Given the description of an element on the screen output the (x, y) to click on. 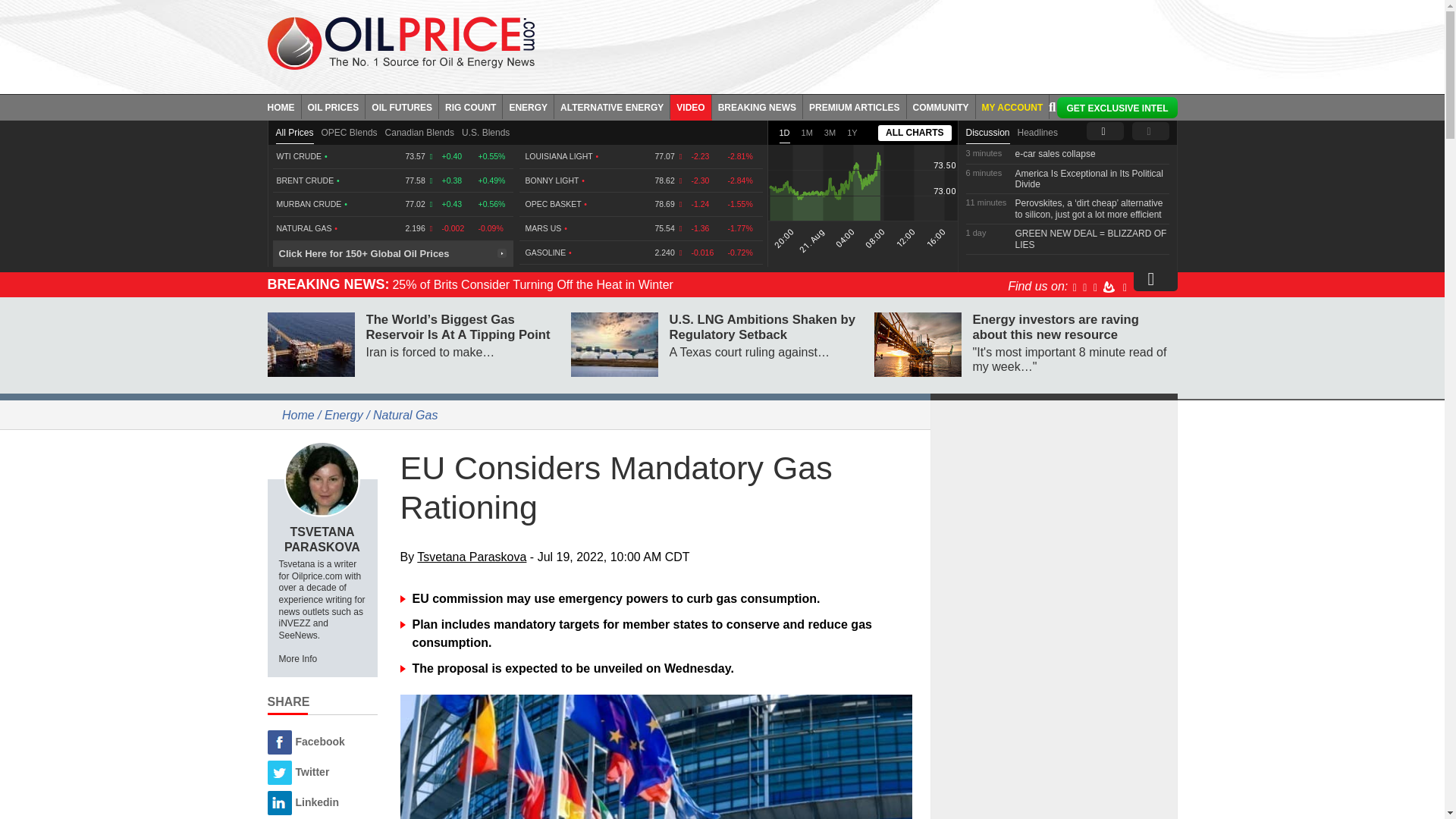
ENERGY (528, 106)
HOME (283, 106)
RIG COUNT (470, 106)
Tsvetana Paraskova (321, 478)
PREMIUM ARTICLES (855, 106)
VIDEO (690, 106)
COMMUNITY (941, 106)
ALTERNATIVE ENERGY (611, 106)
BREAKING NEWS (757, 106)
U.S. LNG Ambitions Shaken by Regulatory Setback (614, 344)
